Given the description of an element on the screen output the (x, y) to click on. 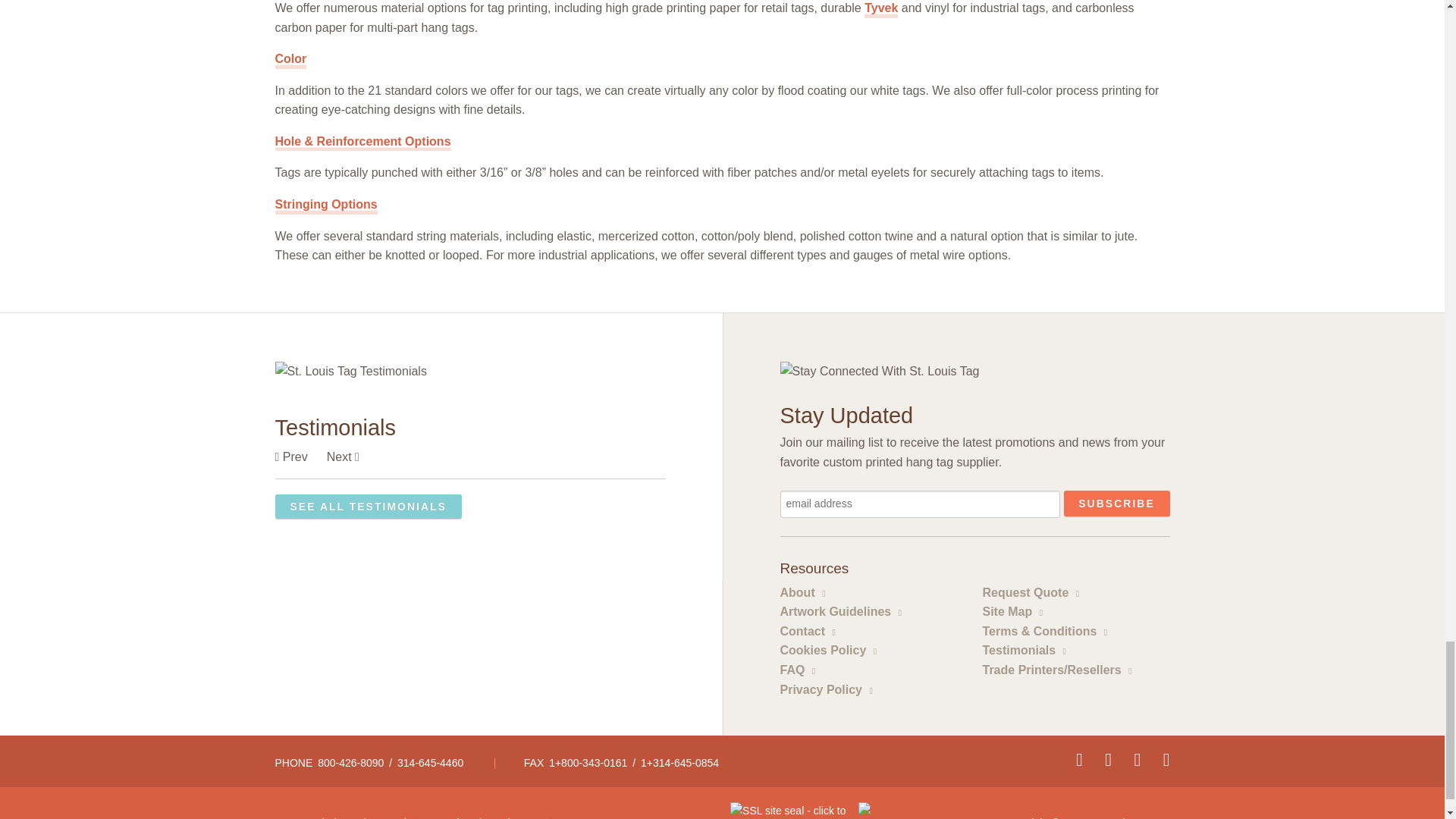
Subscribe (1115, 503)
